Given the description of an element on the screen output the (x, y) to click on. 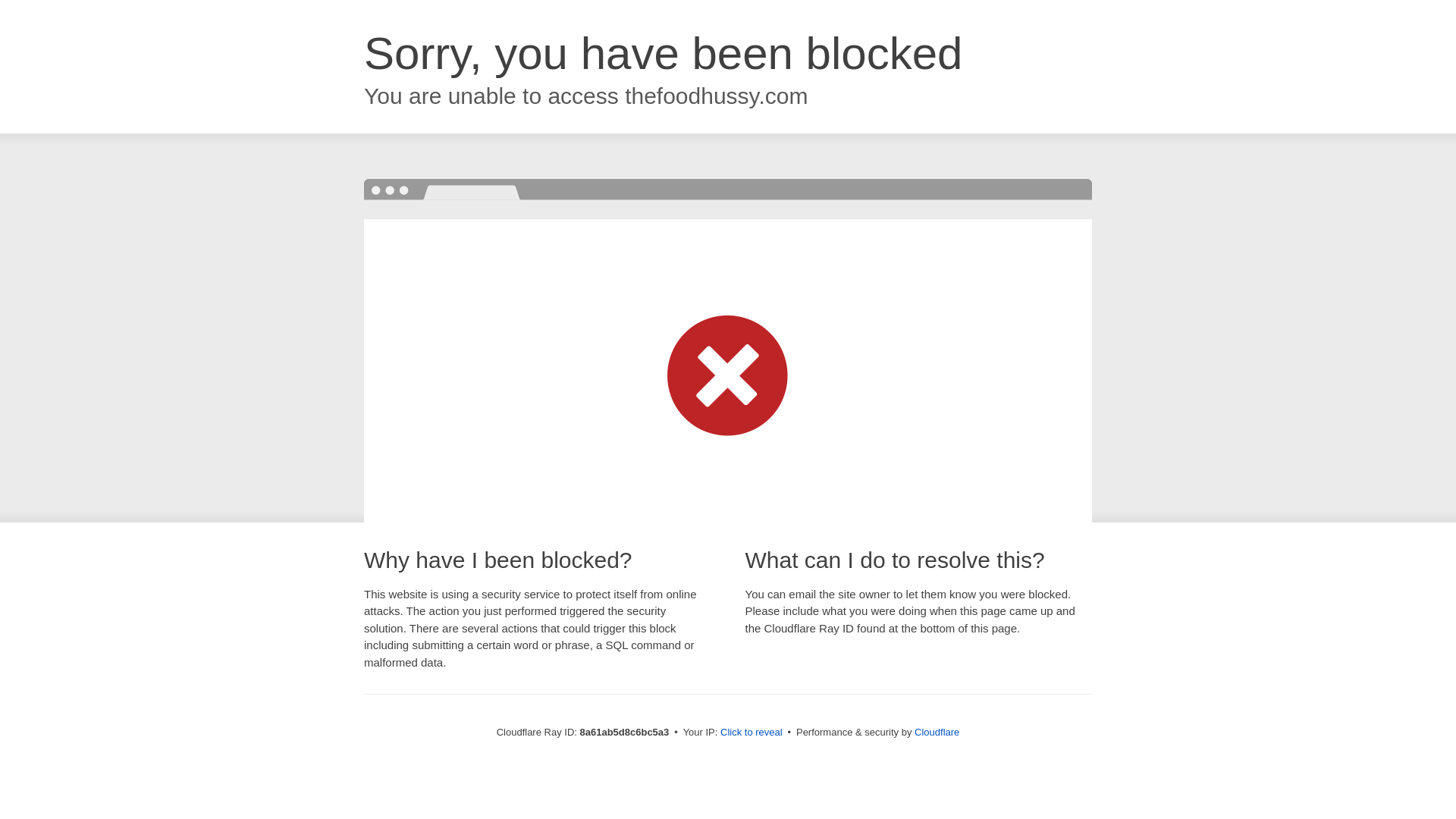
Cloudflare (936, 731)
Click to reveal (751, 732)
